Given the description of an element on the screen output the (x, y) to click on. 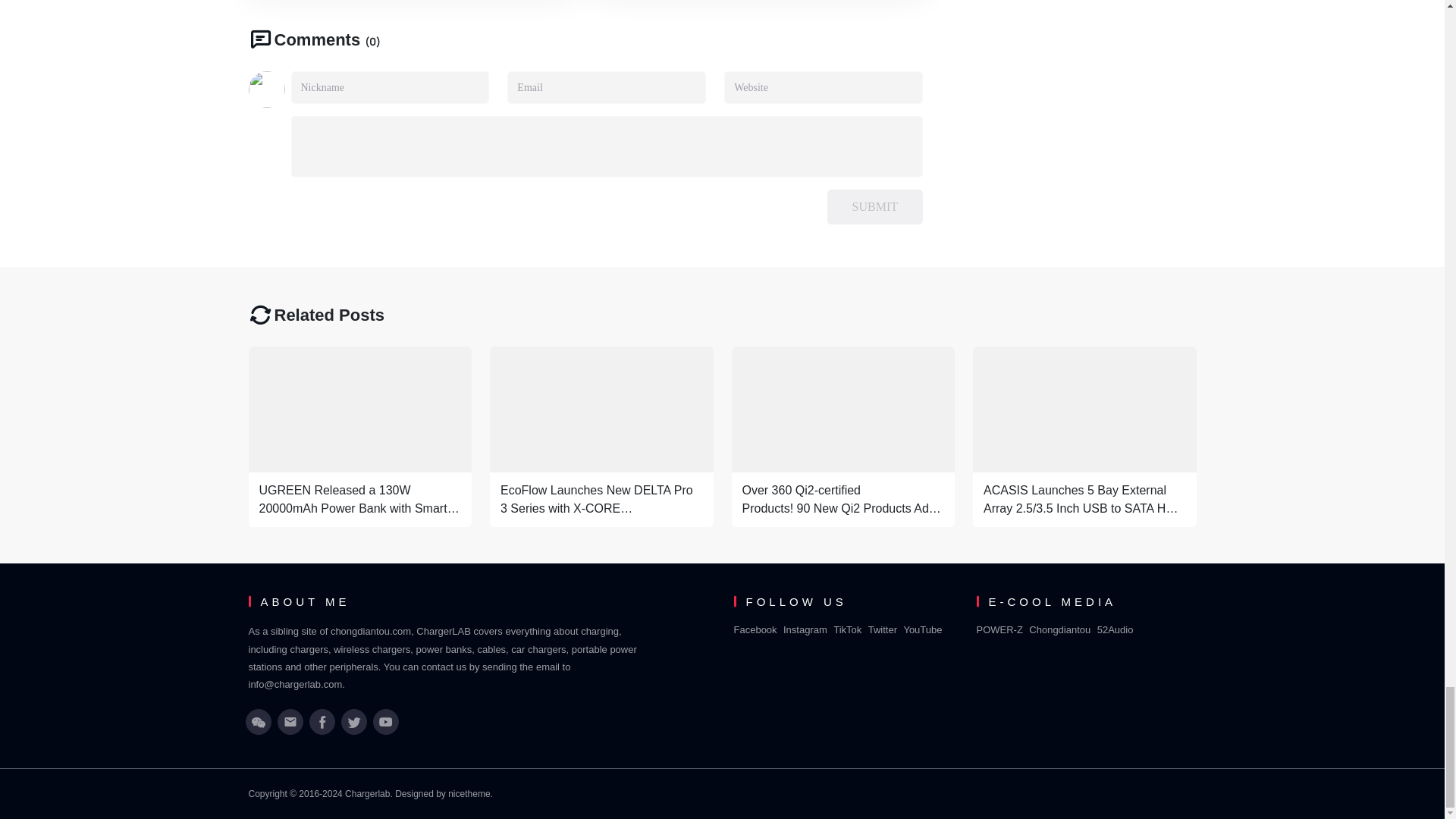
Submit (875, 206)
